Given the description of an element on the screen output the (x, y) to click on. 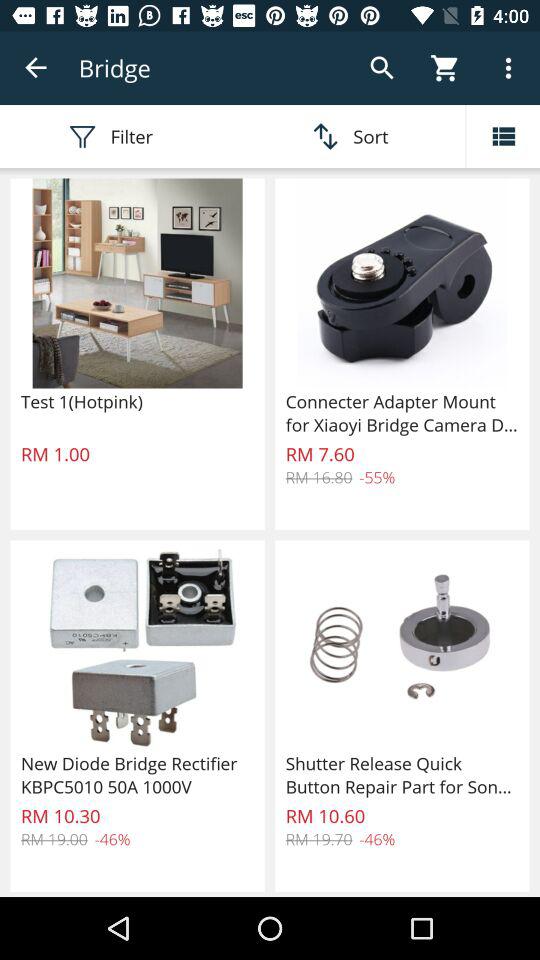
turn off the item next to the bridge (36, 68)
